Given the description of an element on the screen output the (x, y) to click on. 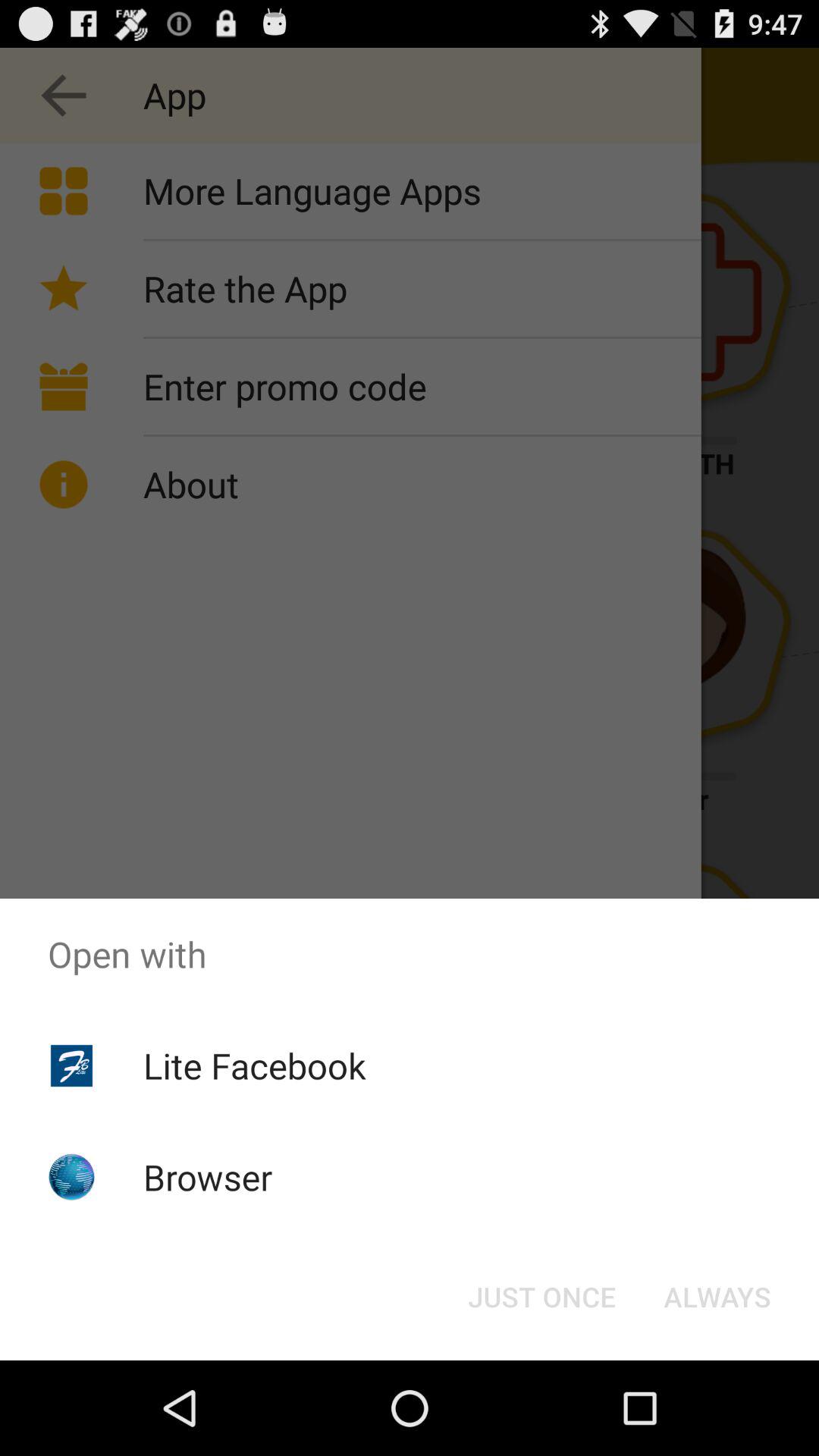
launch the button at the bottom (541, 1296)
